Given the description of an element on the screen output the (x, y) to click on. 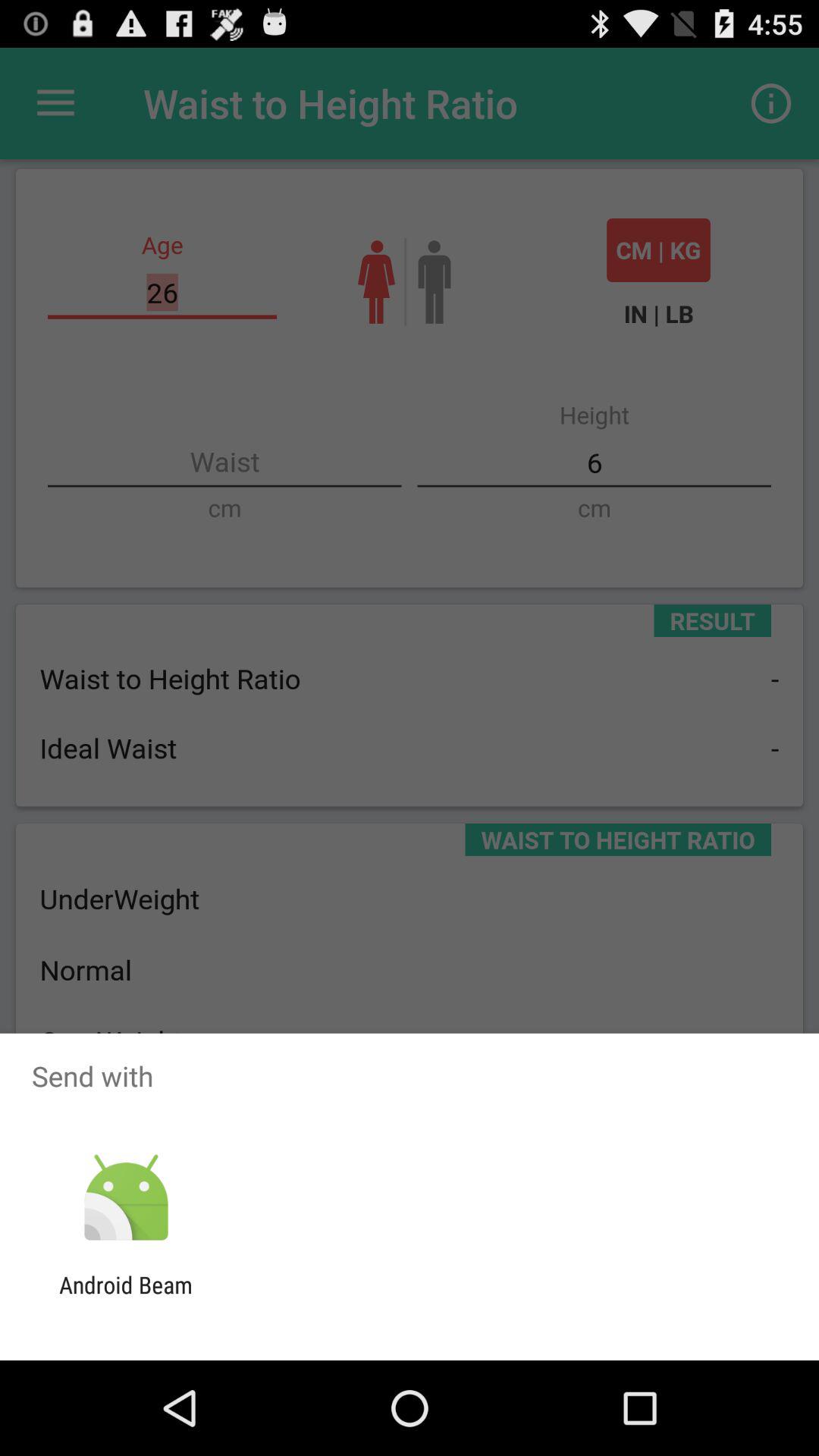
click icon below send with (126, 1198)
